Given the description of an element on the screen output the (x, y) to click on. 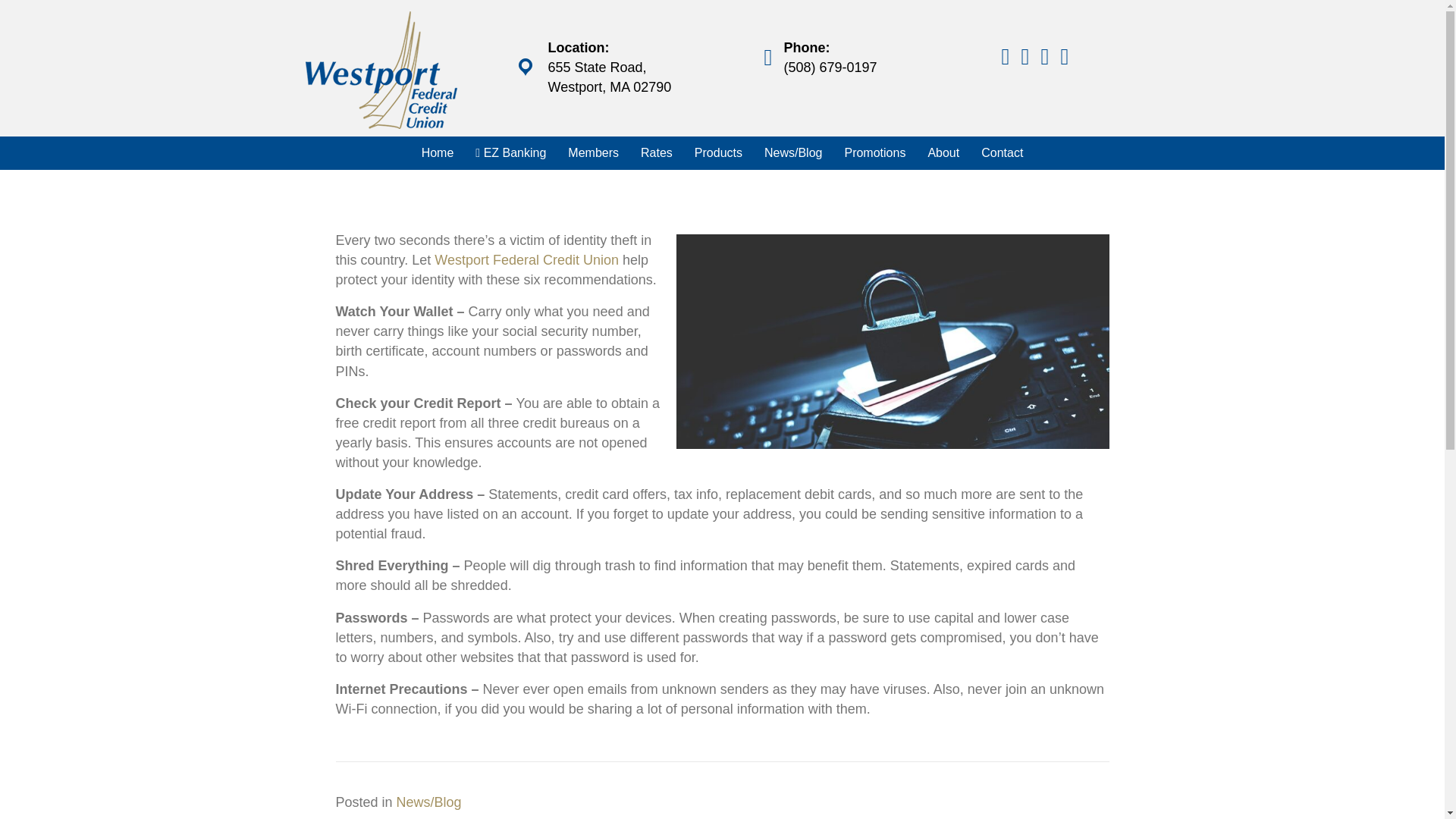
Rates (656, 152)
wcu-logo-200 (380, 69)
Westport Federal Credit Union (525, 259)
Products (718, 152)
EZ Banking (510, 152)
Contact (1002, 152)
Promotions (873, 152)
Home (437, 152)
Members (592, 152)
About (943, 152)
